Given the description of an element on the screen output the (x, y) to click on. 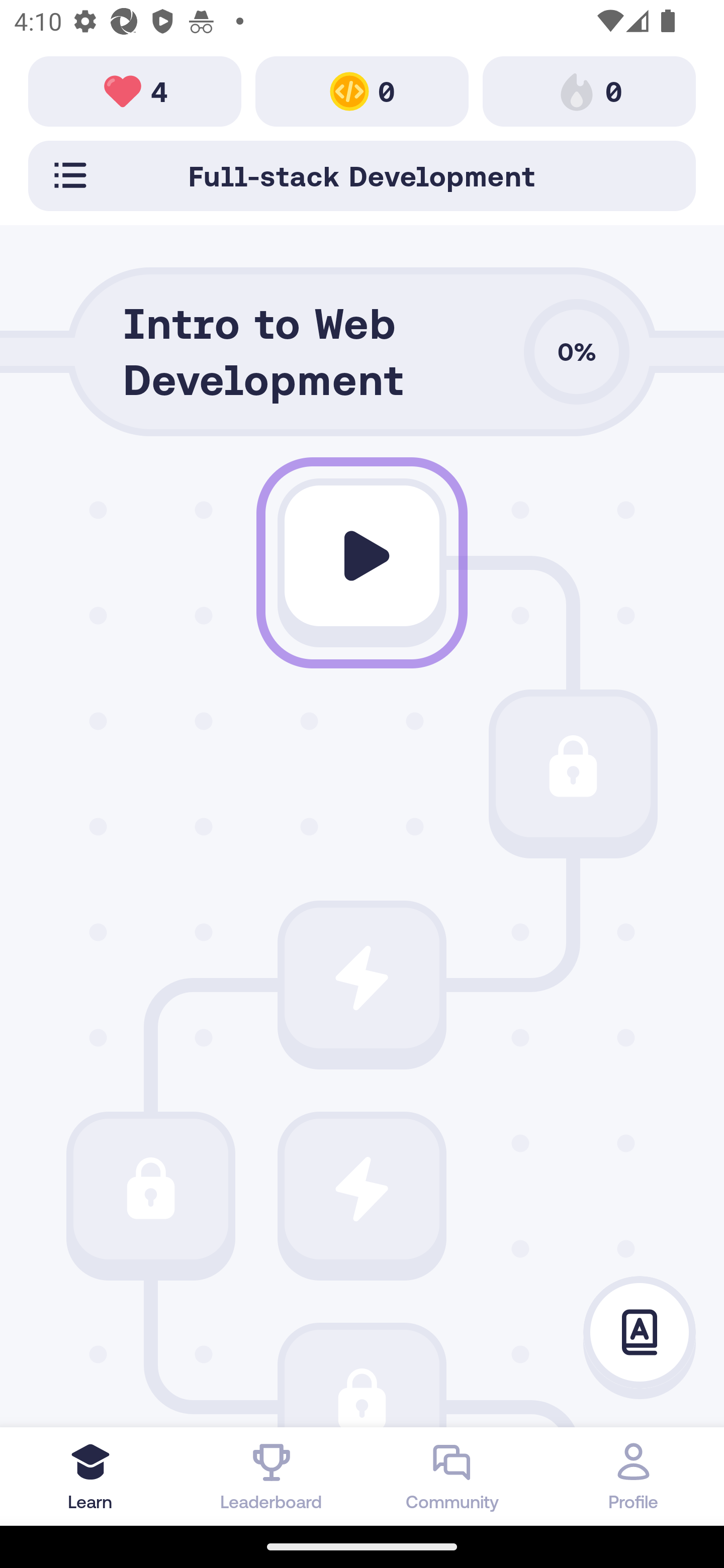
Path Toolbar Image 4 (134, 90)
Path Toolbar Image 0 (361, 90)
Path Toolbar Image 0 (588, 90)
Path Toolbar Selector Full-stack Development (361, 175)
Path Icon (361, 555)
Path Icon (572, 766)
Path Icon (361, 977)
Path Icon (150, 1188)
Path Icon (361, 1188)
Glossary Icon (639, 1332)
Path Icon (361, 1377)
Leaderboard (271, 1475)
Community (452, 1475)
Profile (633, 1475)
